Given the description of an element on the screen output the (x, y) to click on. 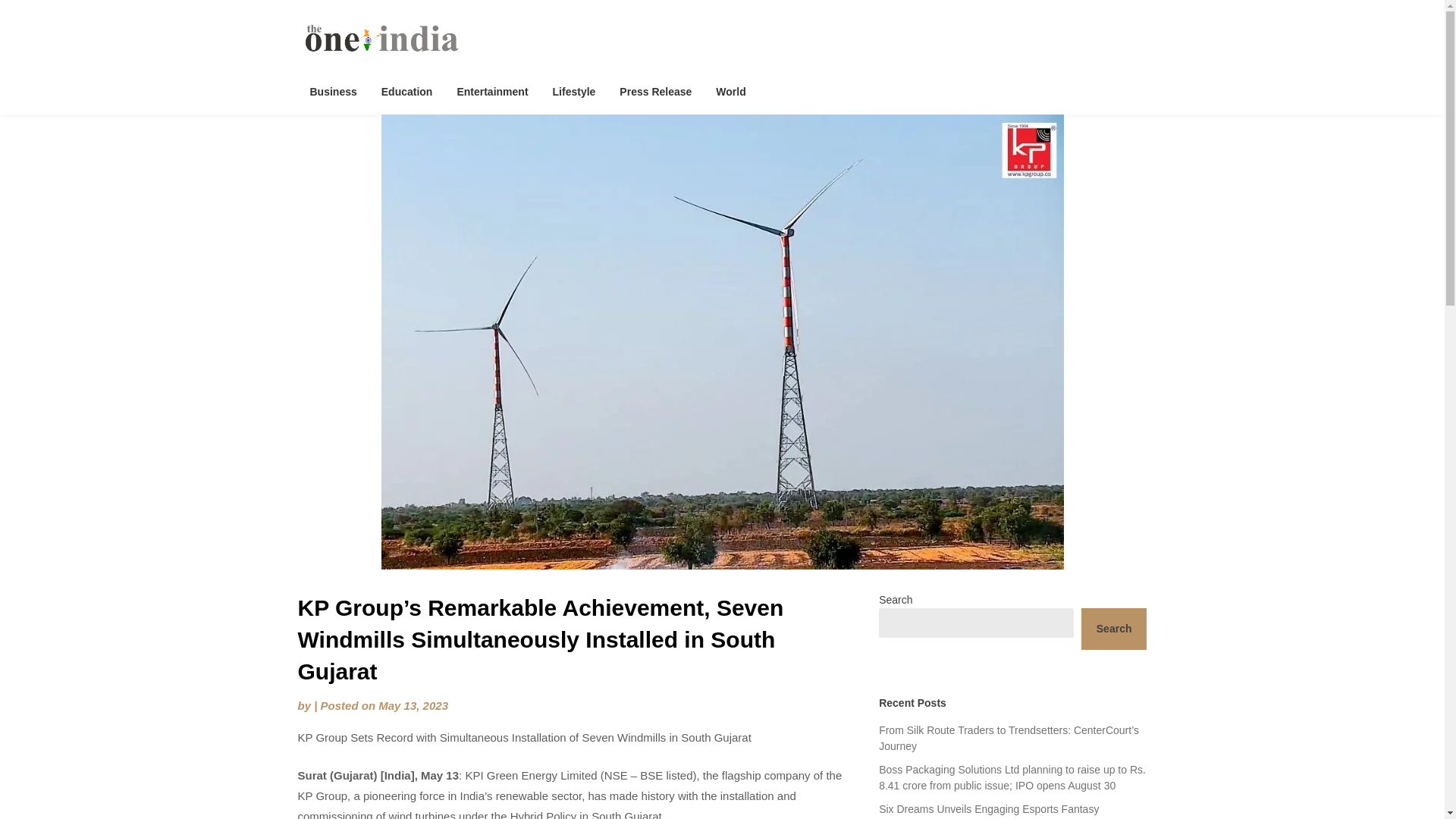
World (730, 91)
May 13, 2023 (413, 705)
Search (1114, 629)
Business (332, 91)
Entertainment (492, 91)
Lifestyle (574, 91)
Education (407, 91)
Press Release (655, 91)
